Given the description of an element on the screen output the (x, y) to click on. 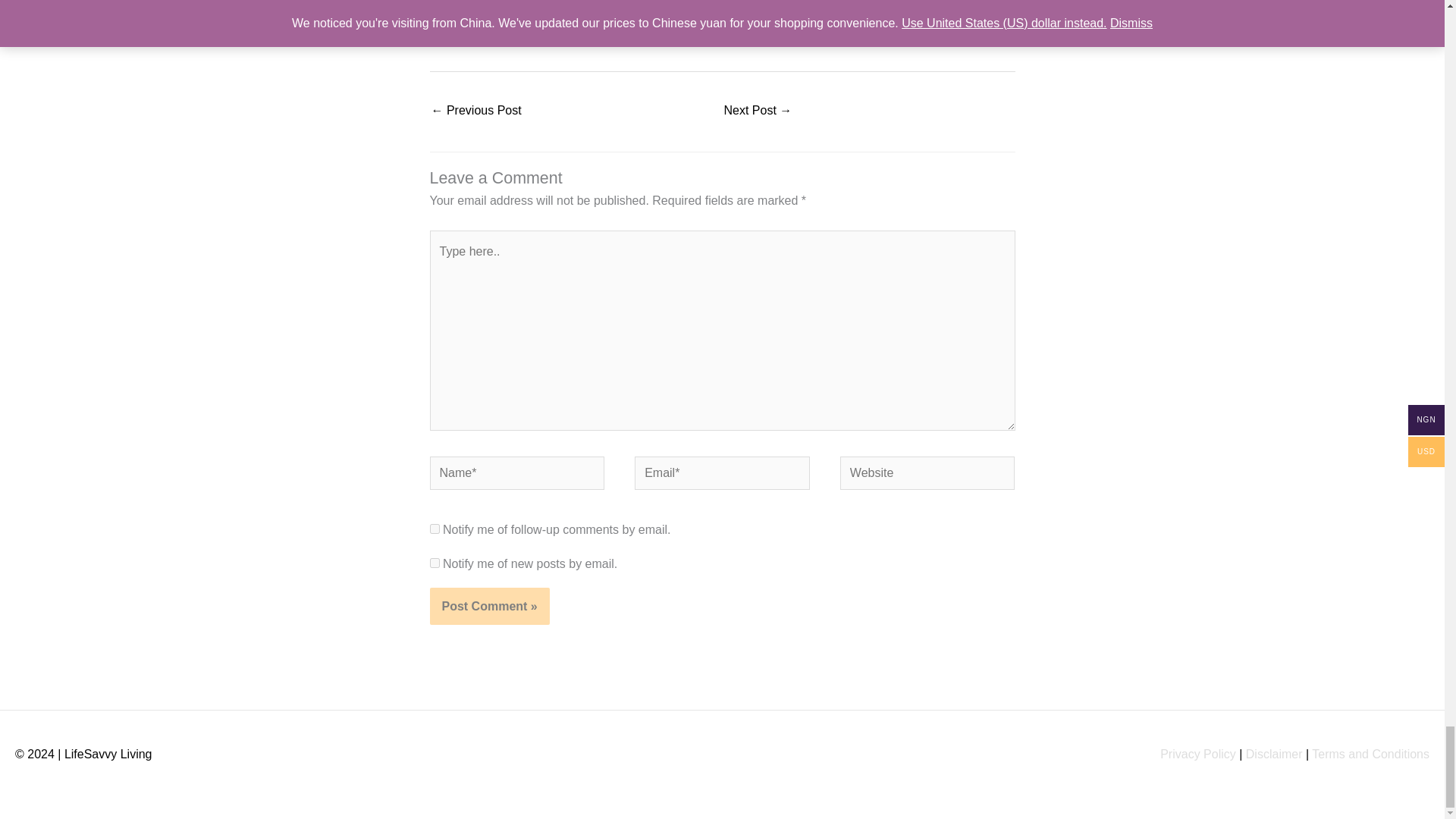
Total Shares (556, 15)
How to Be an Influencer: The Top 10 Qualities You Need (475, 111)
Whatsapp (506, 14)
subscribe (434, 528)
subscribe (434, 562)
Instagram (483, 14)
More (527, 14)
Facebook (439, 14)
